Given the description of an element on the screen output the (x, y) to click on. 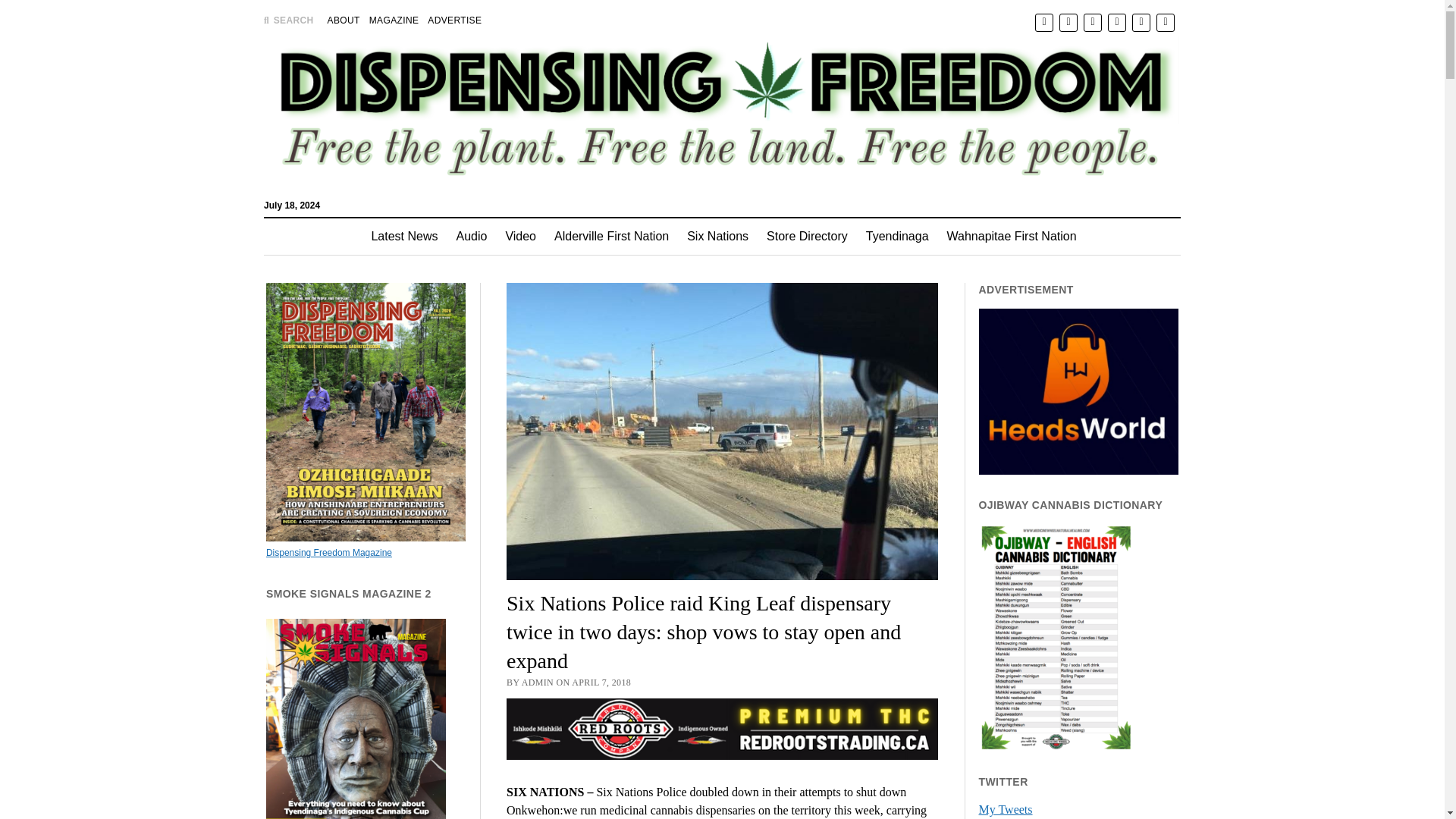
ADVERTISE (454, 20)
Audio (471, 236)
Latest News (403, 236)
ABOUT (343, 20)
Six Nations (717, 236)
email (1140, 21)
Dispensing Freedom Magazine (328, 552)
instagram (1092, 21)
Wahnapitae First Nation (1011, 236)
vimeo (1165, 21)
Store Directory (807, 236)
Video (520, 236)
Tyendinaga (897, 236)
SEARCH (288, 20)
